Given the description of an element on the screen output the (x, y) to click on. 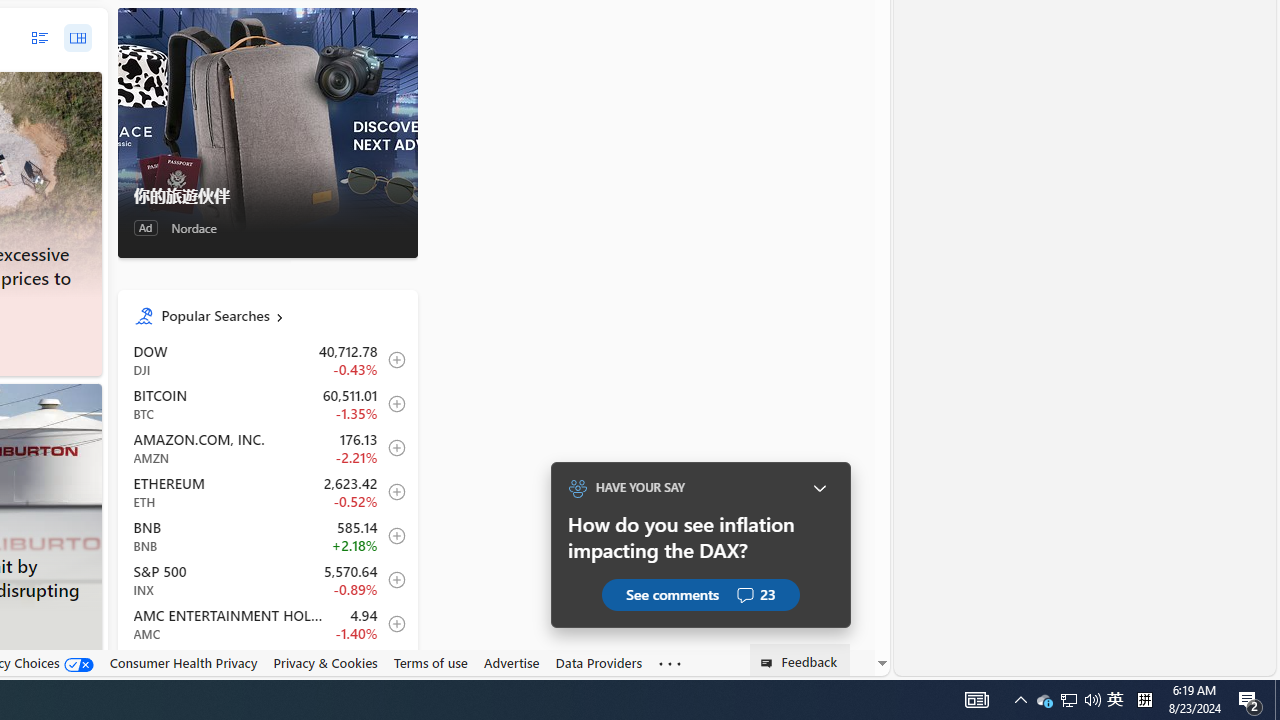
grid layout (77, 37)
list layout (39, 37)
Class: oneFooter_seeMore-DS-EntryPoint1-1 (669, 663)
Add to Watchlist (391, 668)
Data Providers (598, 663)
ETH Ethereum decrease 2,623.42 -13.69 -0.52% itemundefined (267, 492)
BNB BNB increase 585.14 +12.76 +2.18% itemundefined (267, 536)
ADA Cardano increase 0.37 +0.00 +1.09% itemundefined (267, 667)
Popular Searches (281, 316)
